Given the description of an element on the screen output the (x, y) to click on. 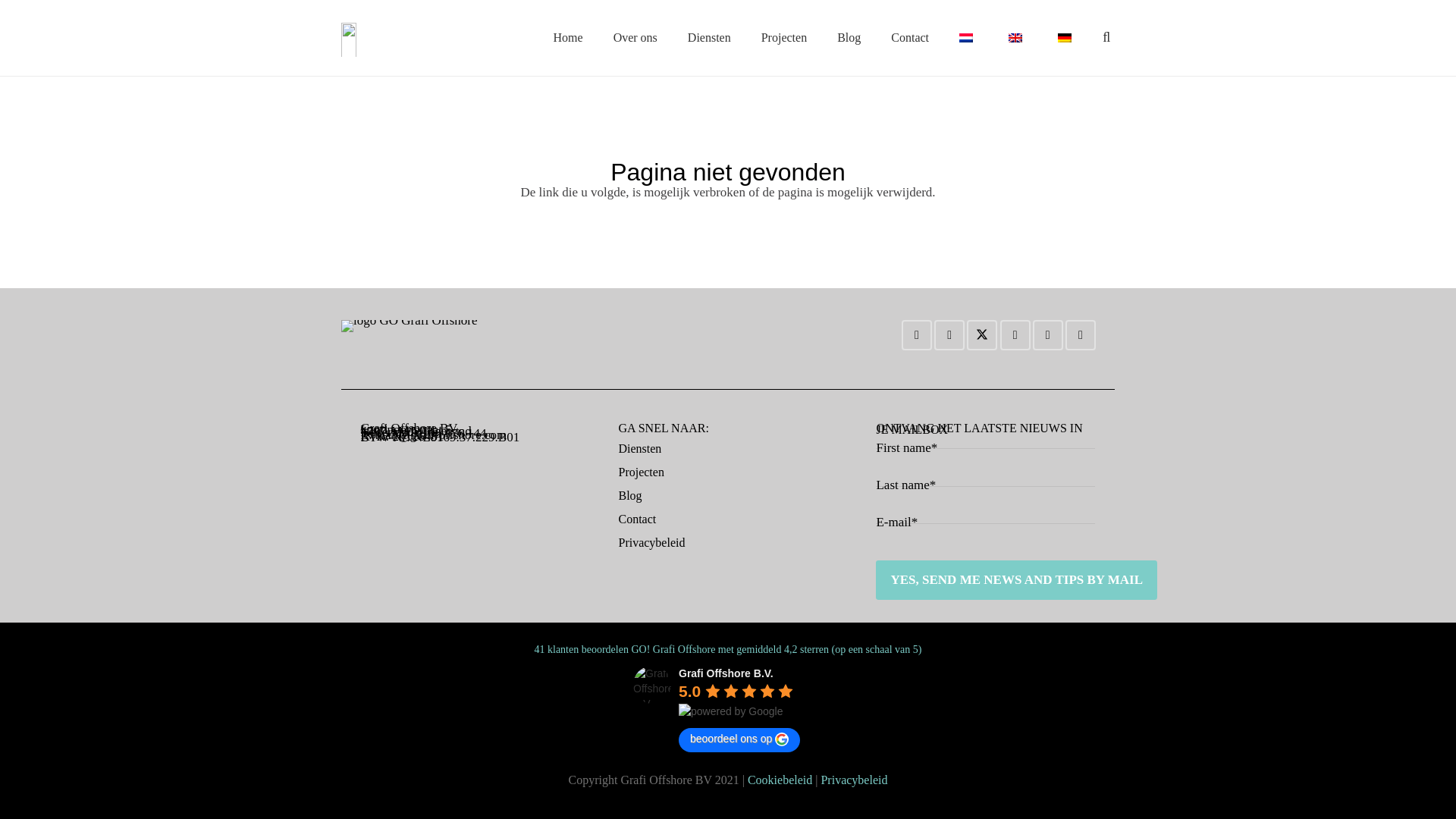
Contact (909, 37)
Google (1015, 335)
YES, SEND ME NEWS AND TIPS BY MAIL (1016, 579)
Blog (849, 37)
YouTube (1080, 335)
E-mail (916, 335)
Twitter (981, 335)
Diensten (708, 37)
powered by Google (730, 711)
Home (568, 37)
Grafi Offshore B.V. (652, 684)
Over ons (635, 37)
LinkedIn (1047, 335)
Facebook (948, 335)
Projecten (783, 37)
